Given the description of an element on the screen output the (x, y) to click on. 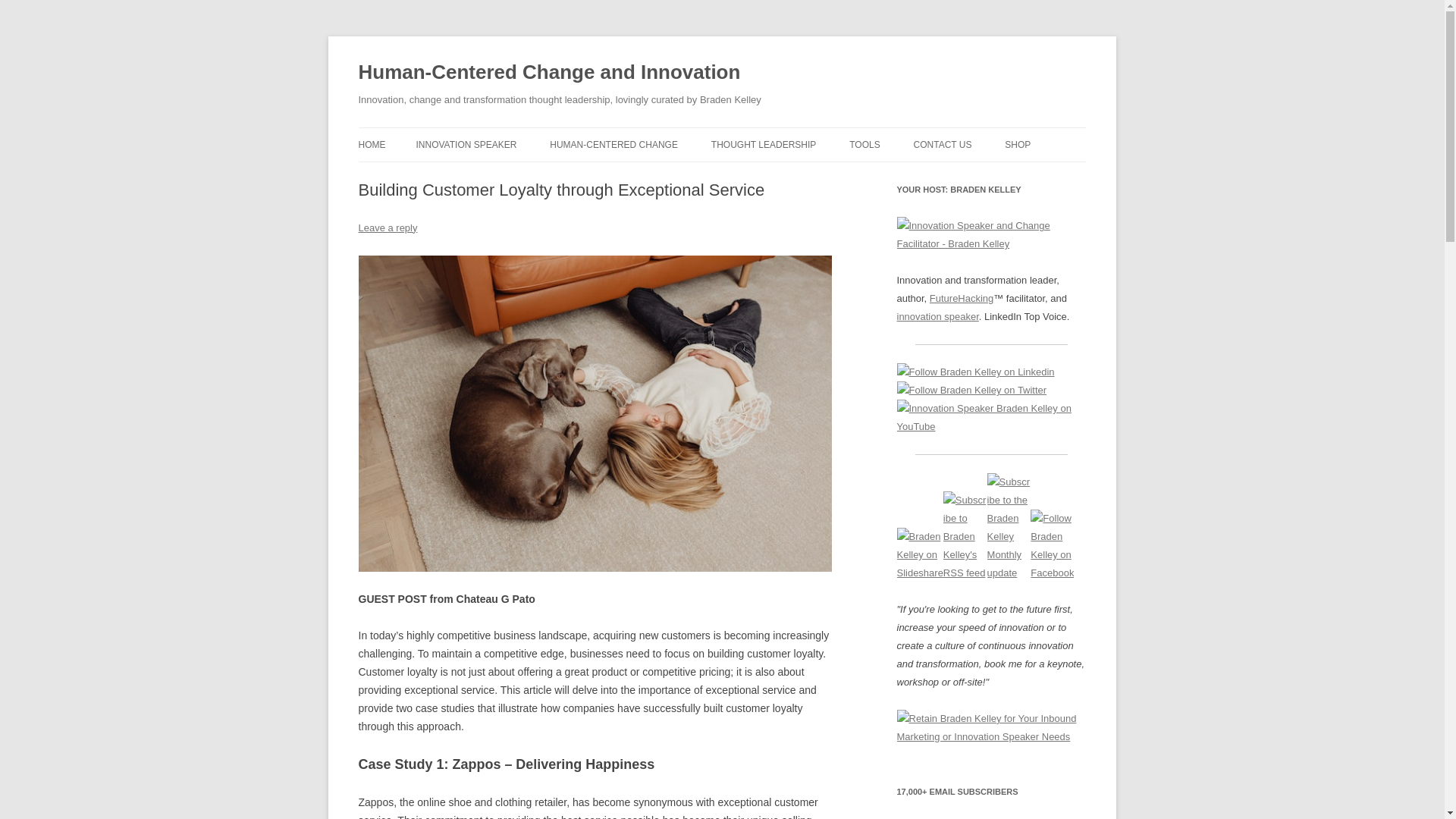
INNOVATION SPEAKER (465, 144)
Leave a reply (387, 227)
TOOLS (863, 144)
THOUGHT LEADERSHIP (763, 144)
FREE INNOVATION MATURITY ASSESSMENT (924, 185)
BLOG (787, 176)
THE BOOK (625, 176)
HUMAN-CENTERED CHANGE (614, 144)
CART (1080, 176)
Human-Centered Change and Innovation (548, 72)
Innovation Speaker and Future Hacker - Braden Kelley (991, 235)
NEWSLETTER SIGNUP (989, 176)
CONTACT US (943, 144)
